Given the description of an element on the screen output the (x, y) to click on. 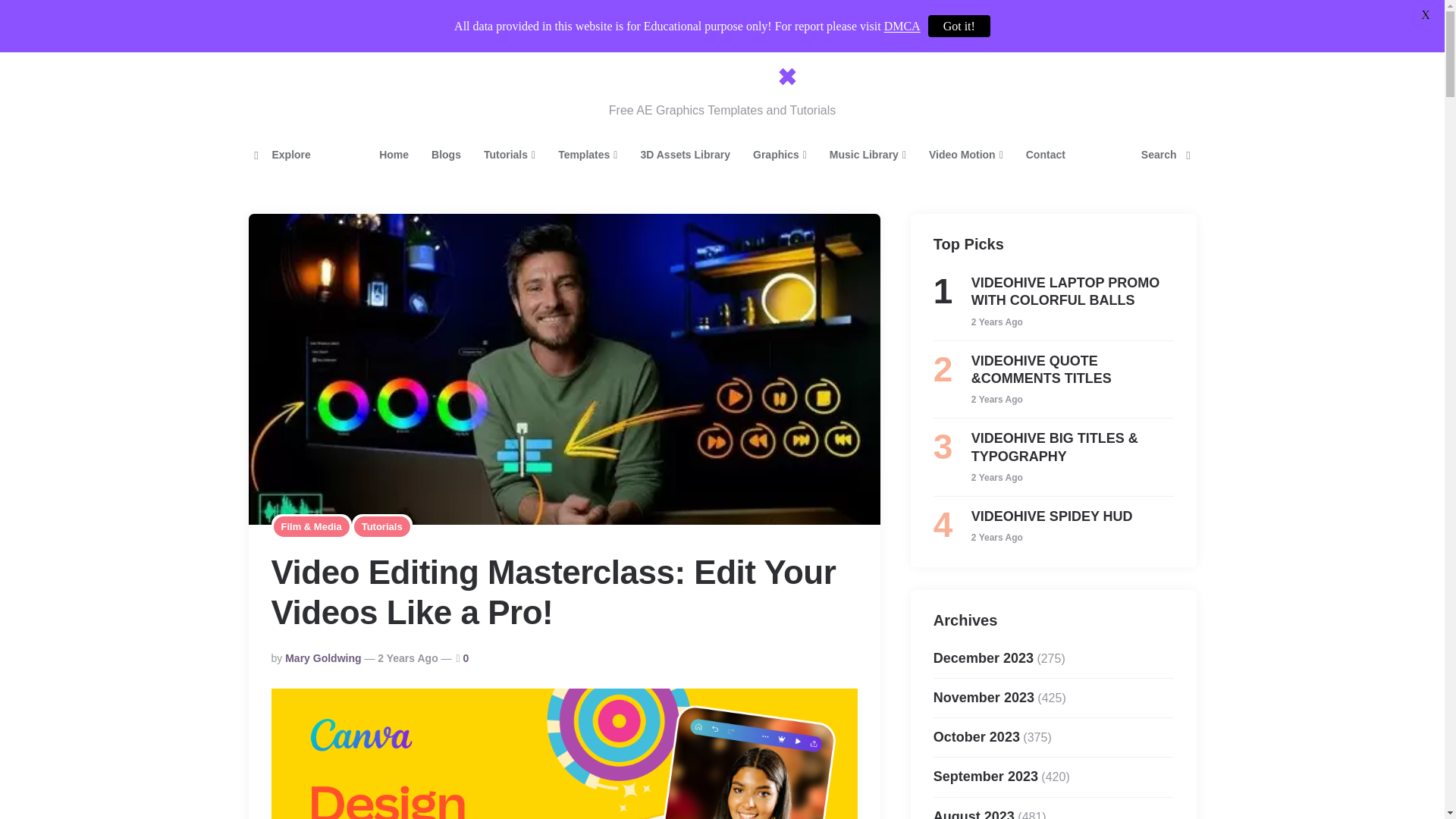
Blogs (445, 155)
Video Editing Masterclass: Edit Your Videos Like a Pro! 82 (563, 753)
Tutorials (509, 155)
3D Assets Library (684, 155)
Graphics (779, 155)
Music Library (867, 155)
Home (394, 155)
Templates (587, 155)
Video Motion (965, 155)
